Given the description of an element on the screen output the (x, y) to click on. 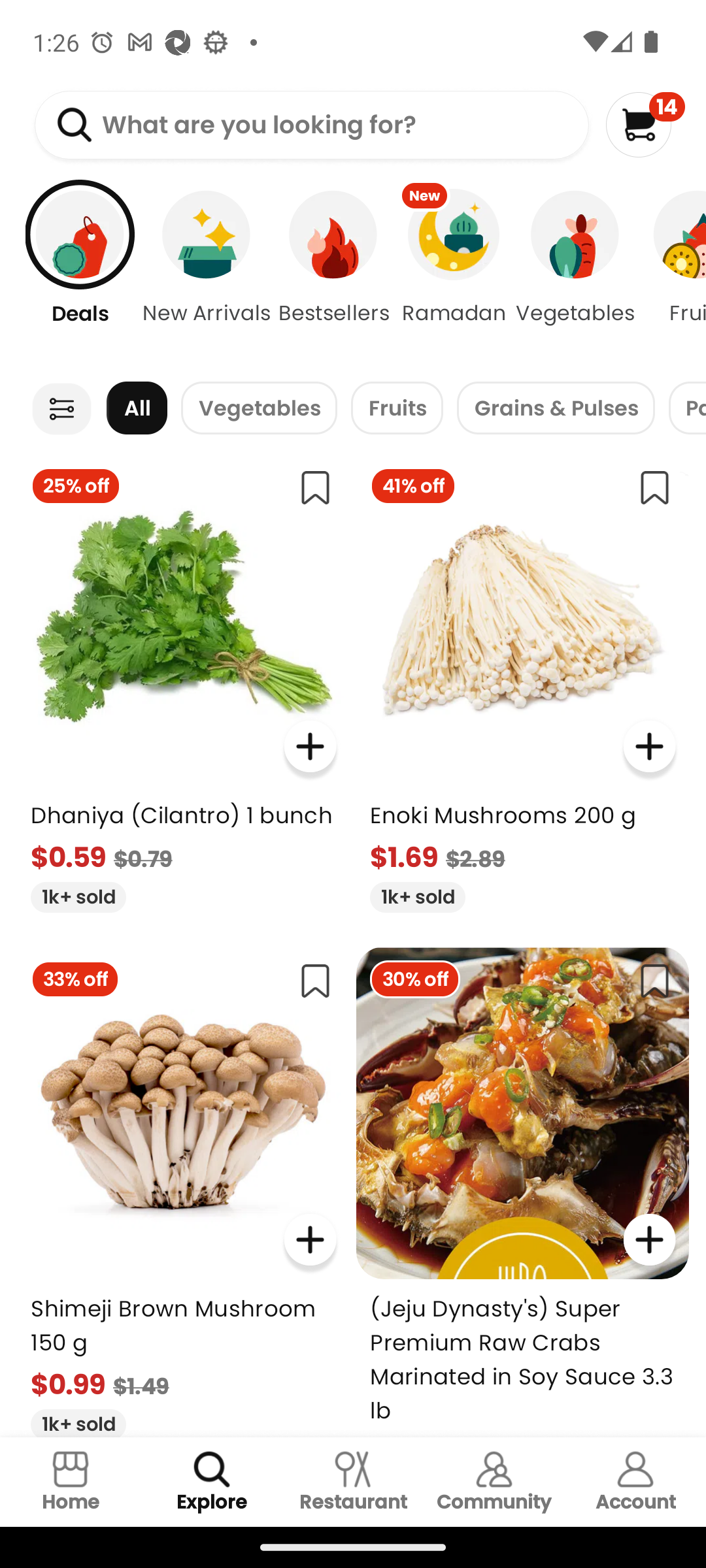
What are you looking for? (311, 124)
14 (644, 124)
Deals (70, 274)
New Arrivals (206, 274)
Bestsellers (333, 274)
New Ramadan (453, 274)
Vegetables (575, 274)
All (136, 407)
Vegetables (258, 407)
Fruits (396, 407)
Grains & Pulses (555, 407)
41% off Enoki Mushrooms 200 g $1.69 $2.89 1k+ sold (522, 682)
Home (70, 1482)
Explore (211, 1482)
Restaurant (352, 1482)
Community (493, 1482)
Account (635, 1482)
